Given the description of an element on the screen output the (x, y) to click on. 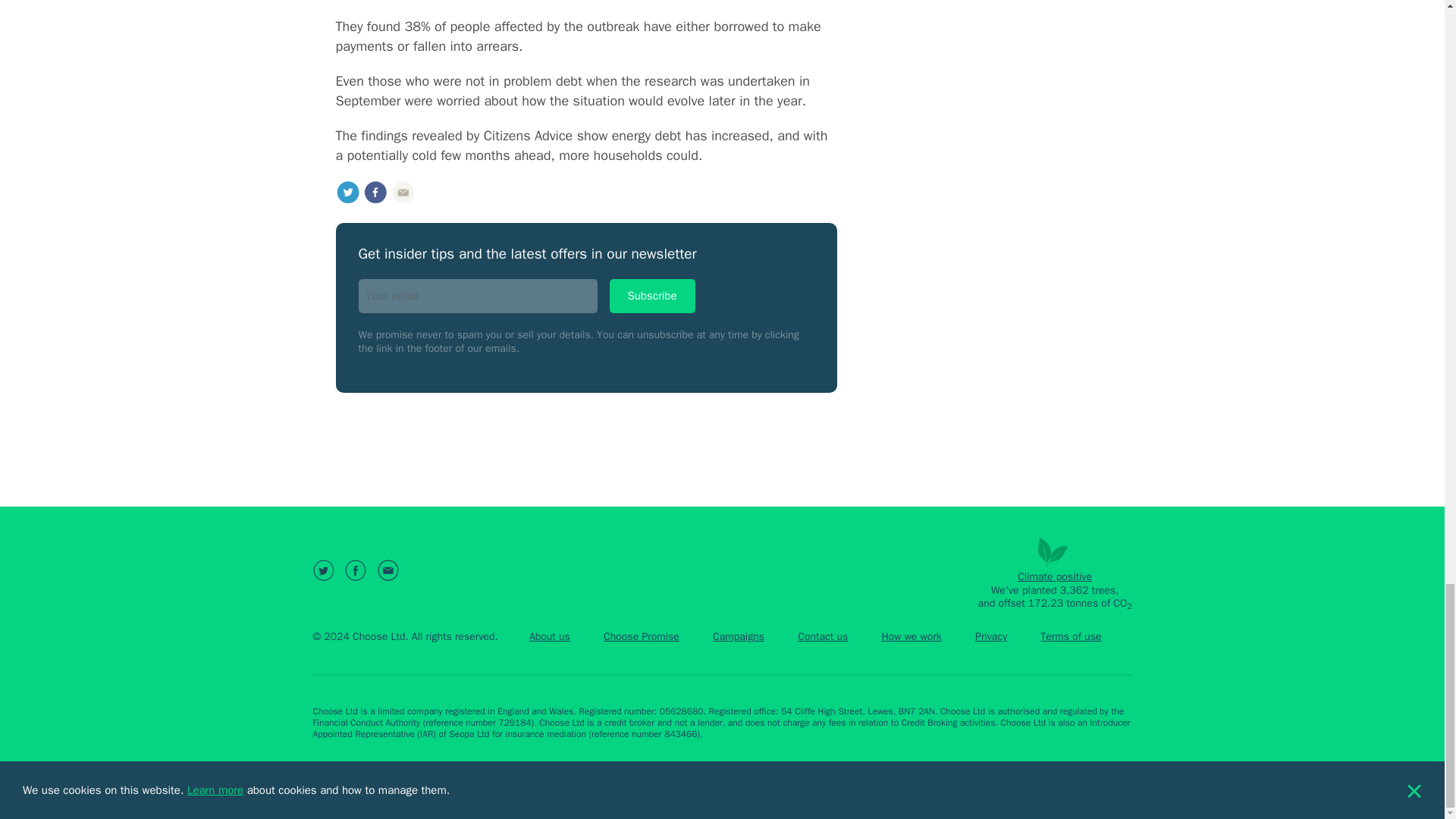
Subscribe (652, 295)
